Given the description of an element on the screen output the (x, y) to click on. 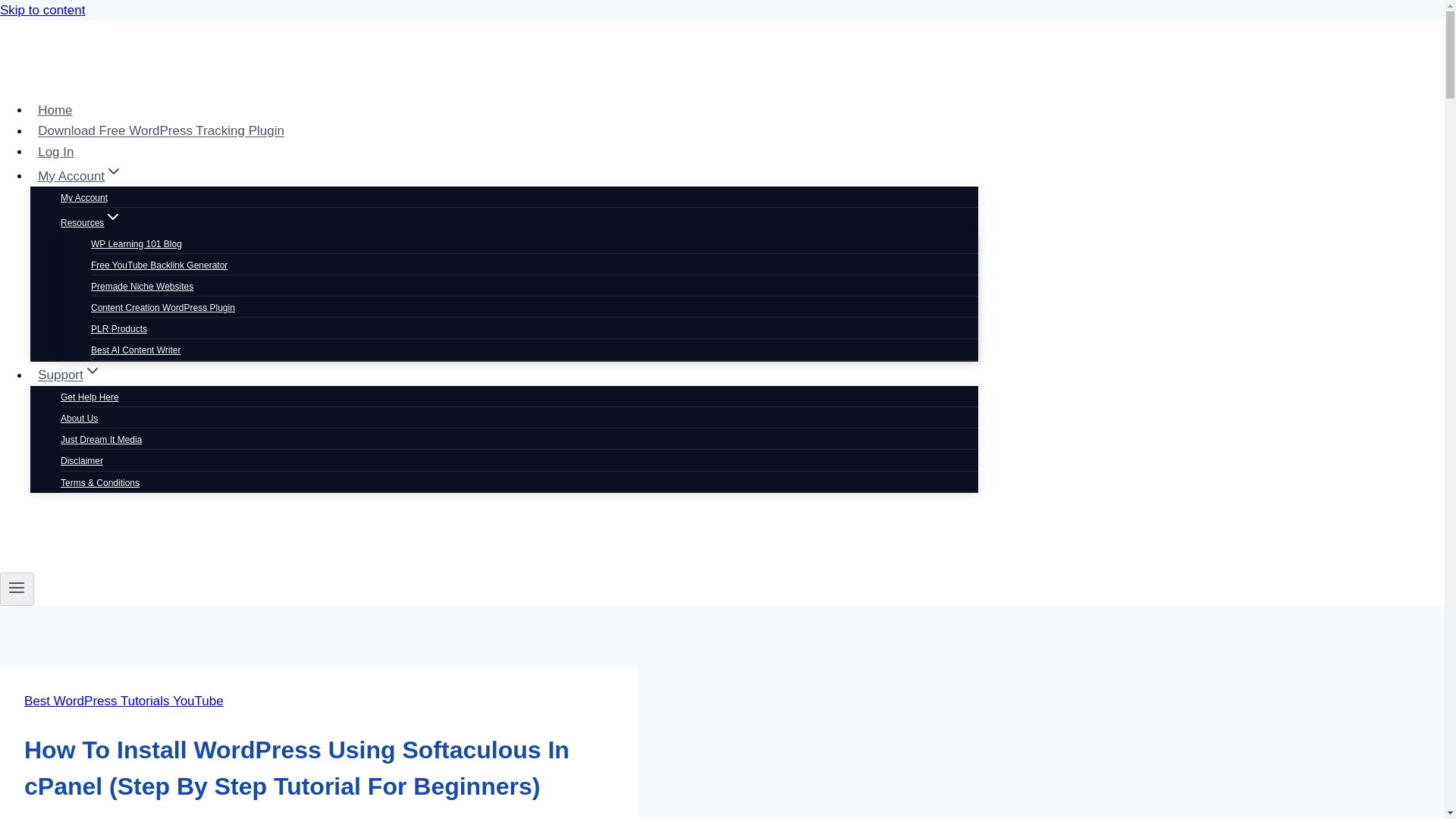
Log In (55, 152)
Expand (91, 370)
Just Dream It Media (101, 439)
Expand (113, 171)
Expand (112, 217)
PLR Products (118, 328)
WP Learning 101 Blog (136, 243)
SupportExpand (69, 374)
Best AI Content Writer (135, 349)
Skip to content (42, 10)
